Given the description of an element on the screen output the (x, y) to click on. 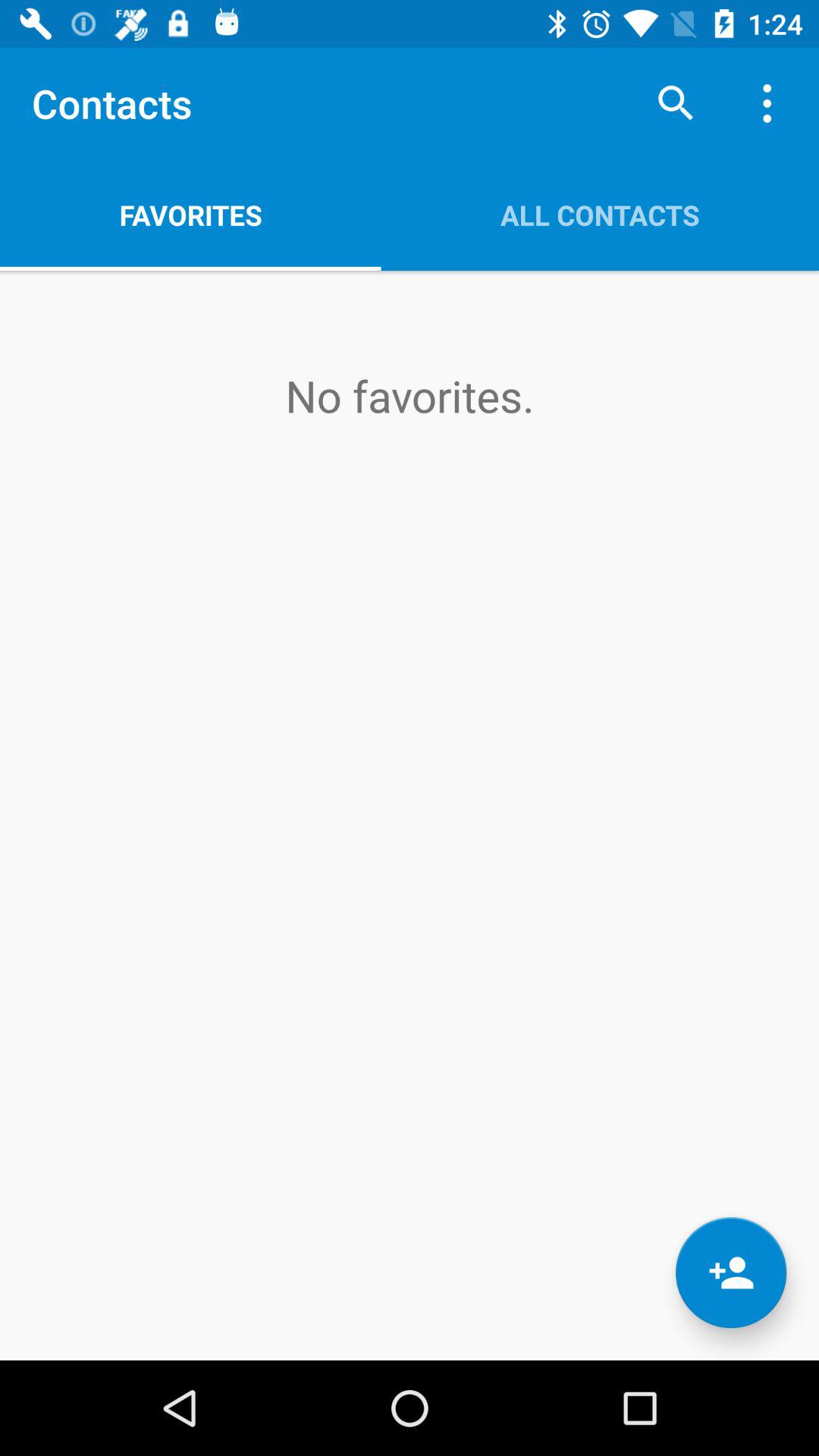
open the icon above the no favorites. icon (600, 214)
